Given the description of an element on the screen output the (x, y) to click on. 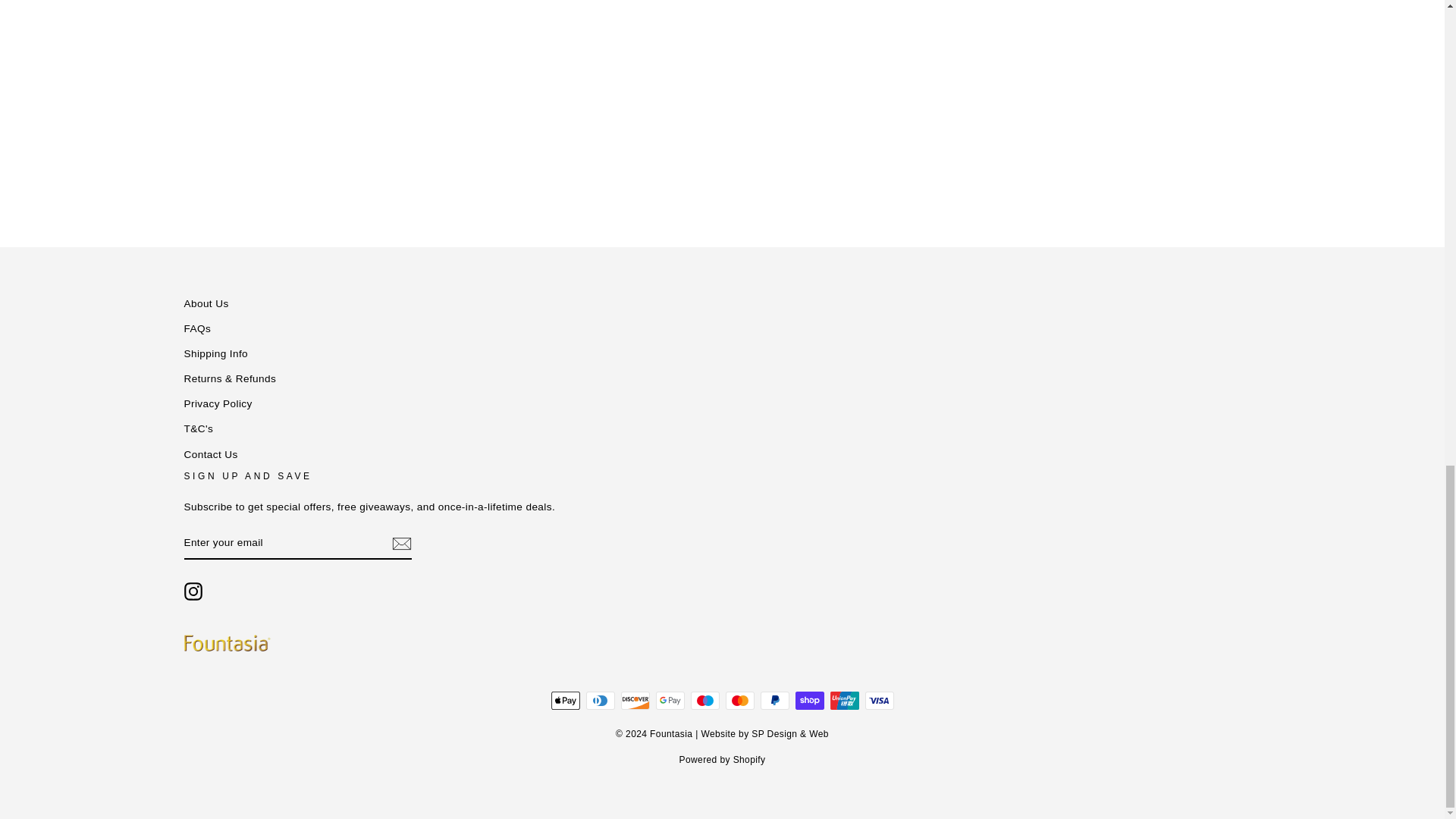
Discover (634, 700)
Diners Club (599, 700)
Google Pay (669, 700)
Apple Pay (564, 700)
Maestro (704, 700)
Mastercard (739, 700)
Fountasia on Instagram (192, 591)
PayPal (774, 700)
